Given the description of an element on the screen output the (x, y) to click on. 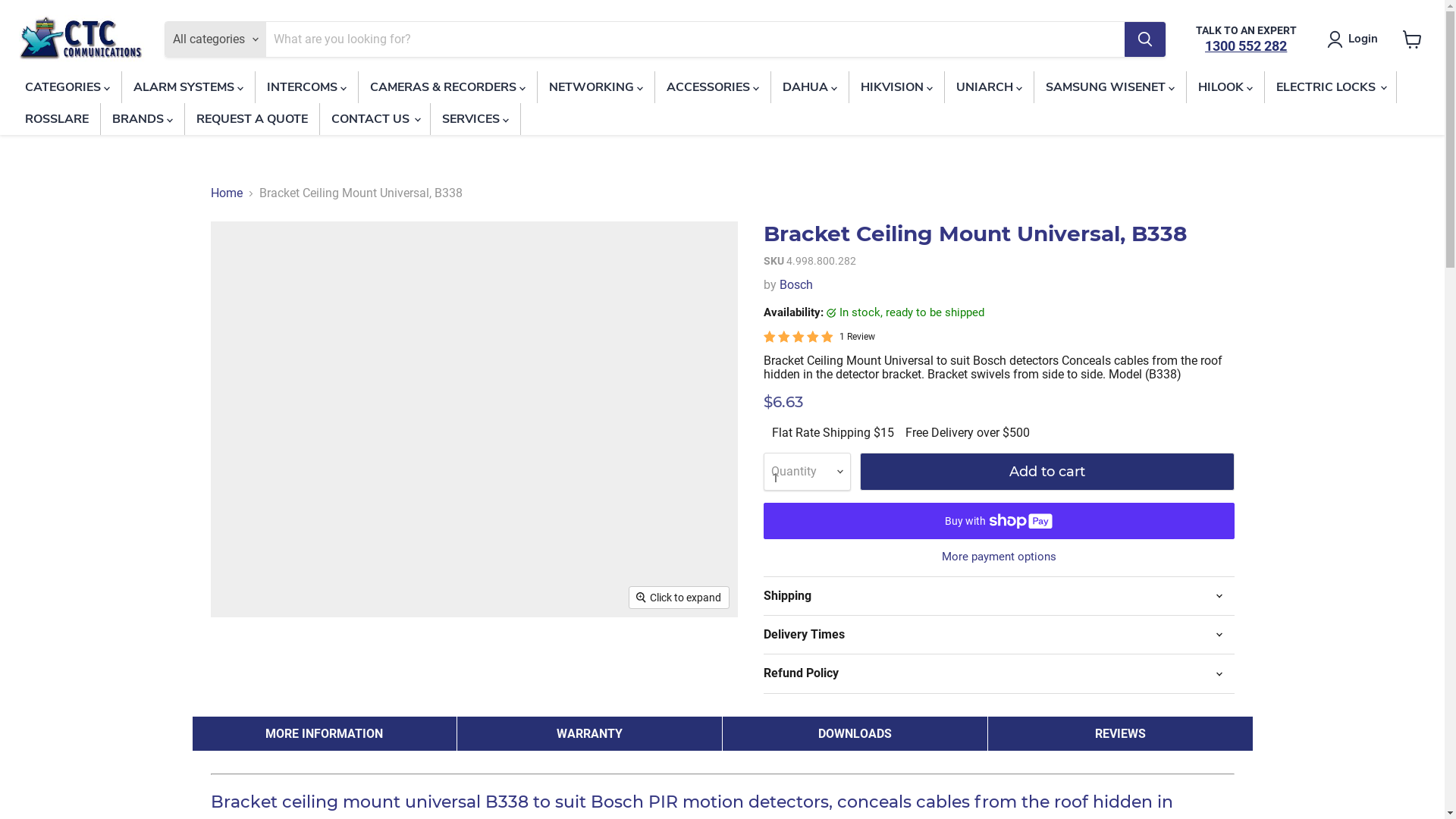
DOWNLOADS Element type: text (855, 733)
Home Element type: text (226, 193)
Click to expand Element type: text (678, 597)
https://www.ctccommunications.com.au/policies/refund-policy Element type: hover (799, 699)
View cart Element type: text (1412, 39)
REQUEST A QUOTE Element type: text (252, 118)
Add to cart Element type: text (1046, 471)
MORE INFORMATION Element type: text (324, 733)
More payment options Element type: text (997, 556)
WARRANTY Element type: text (589, 733)
1300 552 282 Element type: text (1245, 45)
REVIEWS Element type: text (1120, 733)
ROSSLARE Element type: text (56, 118)
Bosch Element type: text (795, 284)
Login Element type: text (1362, 39)
